Given the description of an element on the screen output the (x, y) to click on. 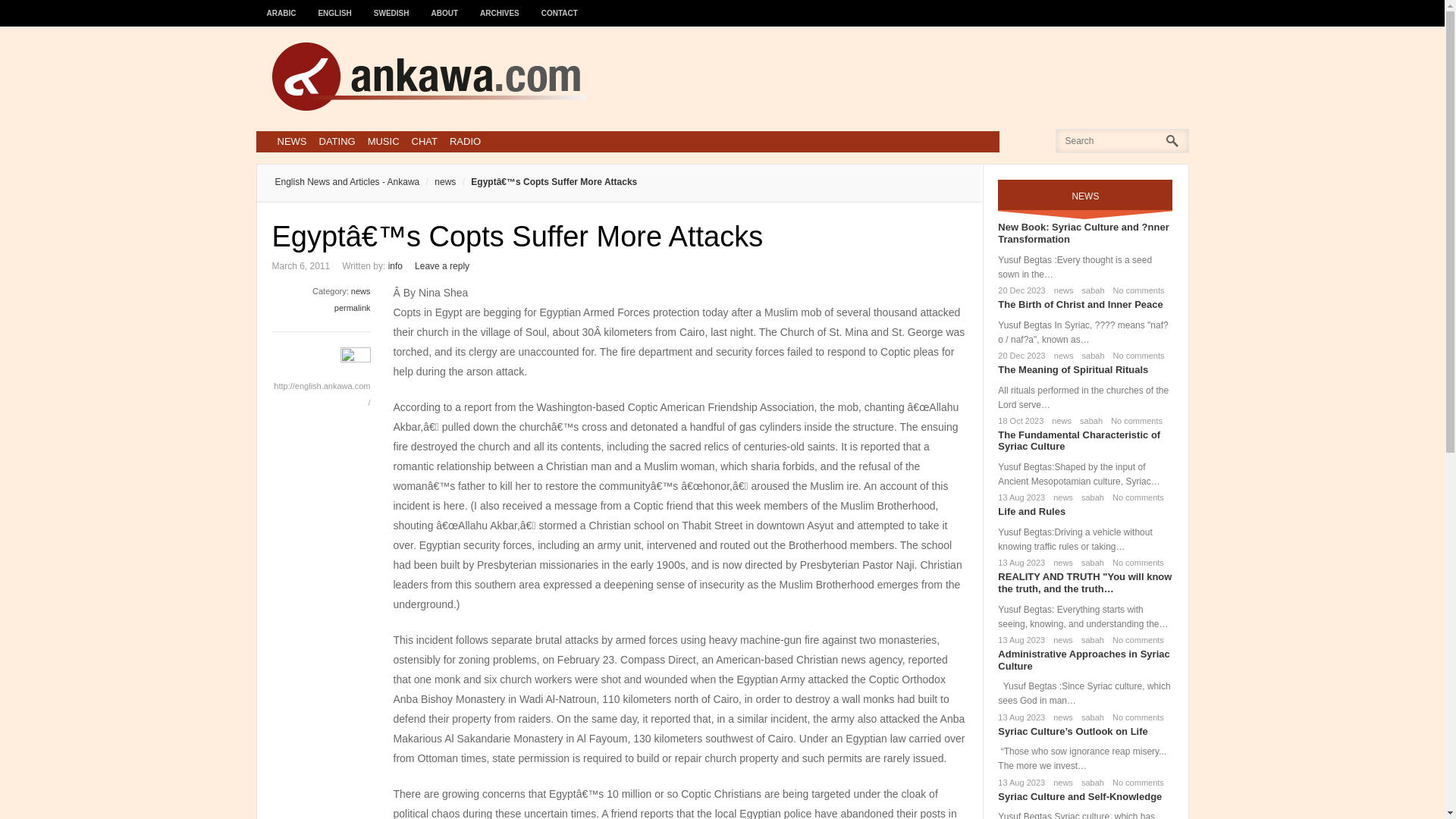
news (1058, 420)
RADIO (465, 141)
The Meaning of Spiritual Rituals (1072, 369)
Life and Rules (1031, 511)
No comments (1135, 355)
The Fundamental Characteristic of Syriac Culture (1078, 440)
CONTACT (560, 5)
ENGLISH (334, 5)
Administrative Approaches in Syriac Culture (1083, 659)
New Book: Syriac Culture and ?nner Transformation (1083, 232)
The Birth of Christ and Inner Peace (1079, 304)
news (437, 181)
MUSIC (383, 141)
ARABIC (281, 5)
